Given the description of an element on the screen output the (x, y) to click on. 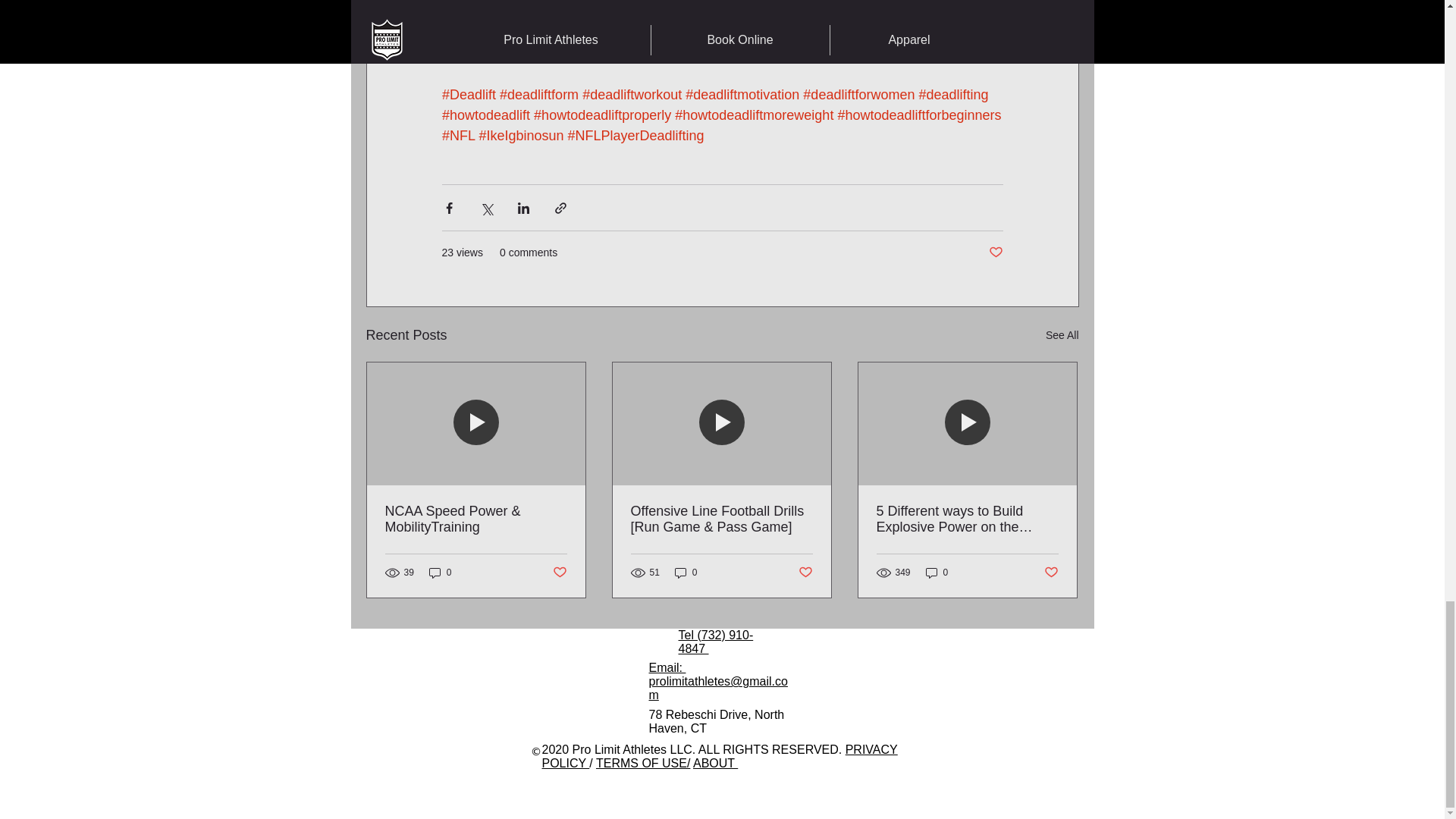
0 (440, 572)
Post not marked as liked (804, 572)
Post not marked as liked (558, 572)
0 (685, 572)
PRIVACY POLICY (718, 755)
0 (937, 572)
Post not marked as liked (995, 252)
See All (1061, 335)
Post not marked as liked (1050, 572)
